Given the description of an element on the screen output the (x, y) to click on. 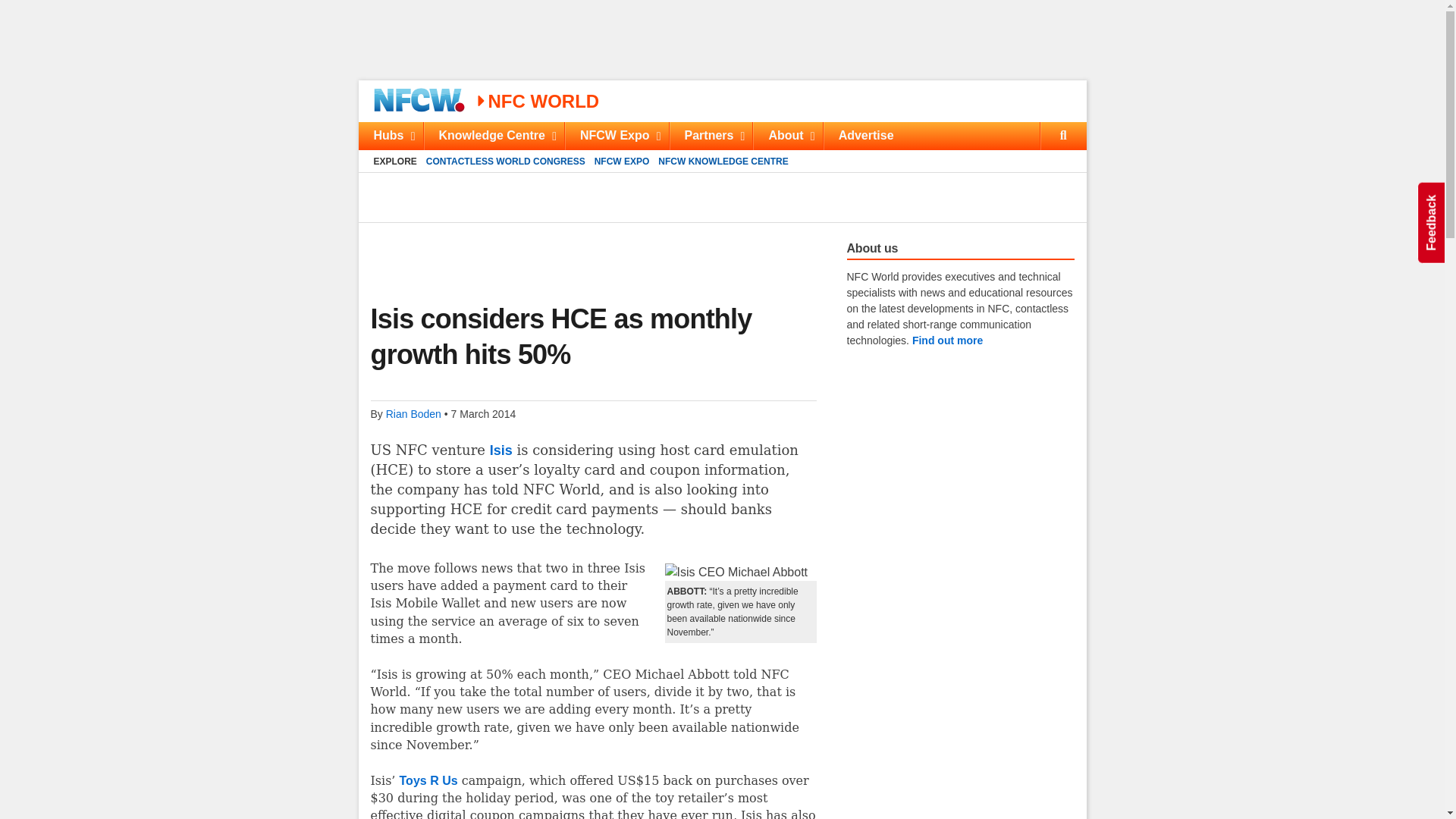
NFC WORLD (537, 100)
Knowledge Centre (722, 135)
NFCW Expo (493, 135)
7 March 2014, 11:59 GMT (616, 135)
Partners (483, 413)
Skip to content (710, 135)
